Given the description of an element on the screen output the (x, y) to click on. 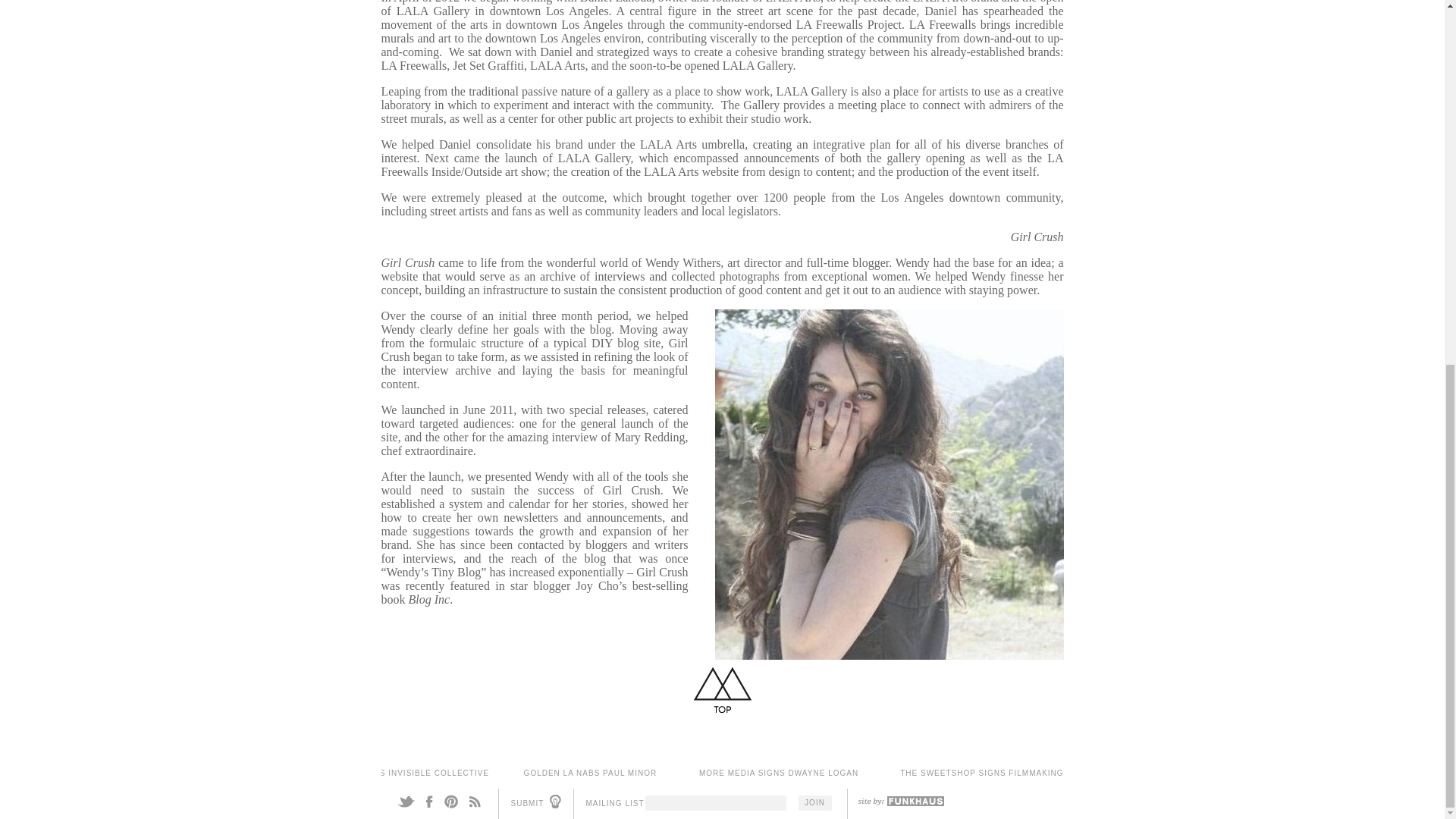
GOLDEN LA NABS PAUL MINOR (591, 773)
Join (814, 802)
THE SWEETSHOP SIGNS FILMMAKING WONDER COLIN READ (1030, 773)
Join (814, 802)
The-Launch---Girl-Crush (888, 484)
MORE MEDIA SIGNS DWAYNE LOGAN (778, 773)
BRENTON GEISER JOINS INVISIBLE COLLECTIVE (383, 773)
